Given the description of an element on the screen output the (x, y) to click on. 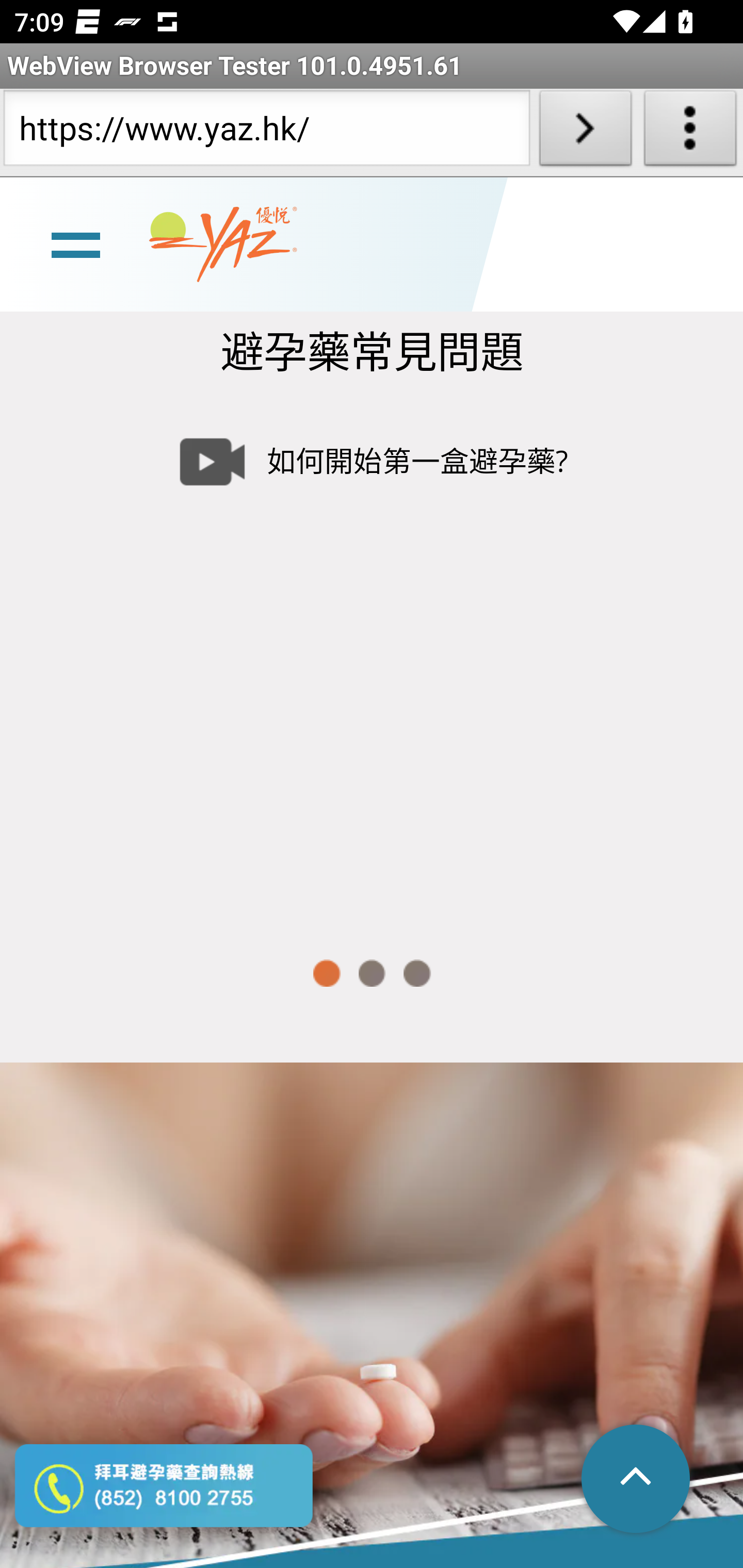
https://www.yaz.hk/ (266, 132)
Load URL (585, 132)
About WebView (690, 132)
www.yaz (222, 244)
line Toggle burger menu (75, 242)
slide 1 如何開始第一盒避孕藥? Video Player Video Player (371, 658)
slide 1 如何開始第一盒避孕藥? Video Player Video Player (371, 658)
1 of 3 (326, 973)
2 of 3 (371, 973)
3 of 3 (416, 973)
 (636, 1480)
